Given the description of an element on the screen output the (x, y) to click on. 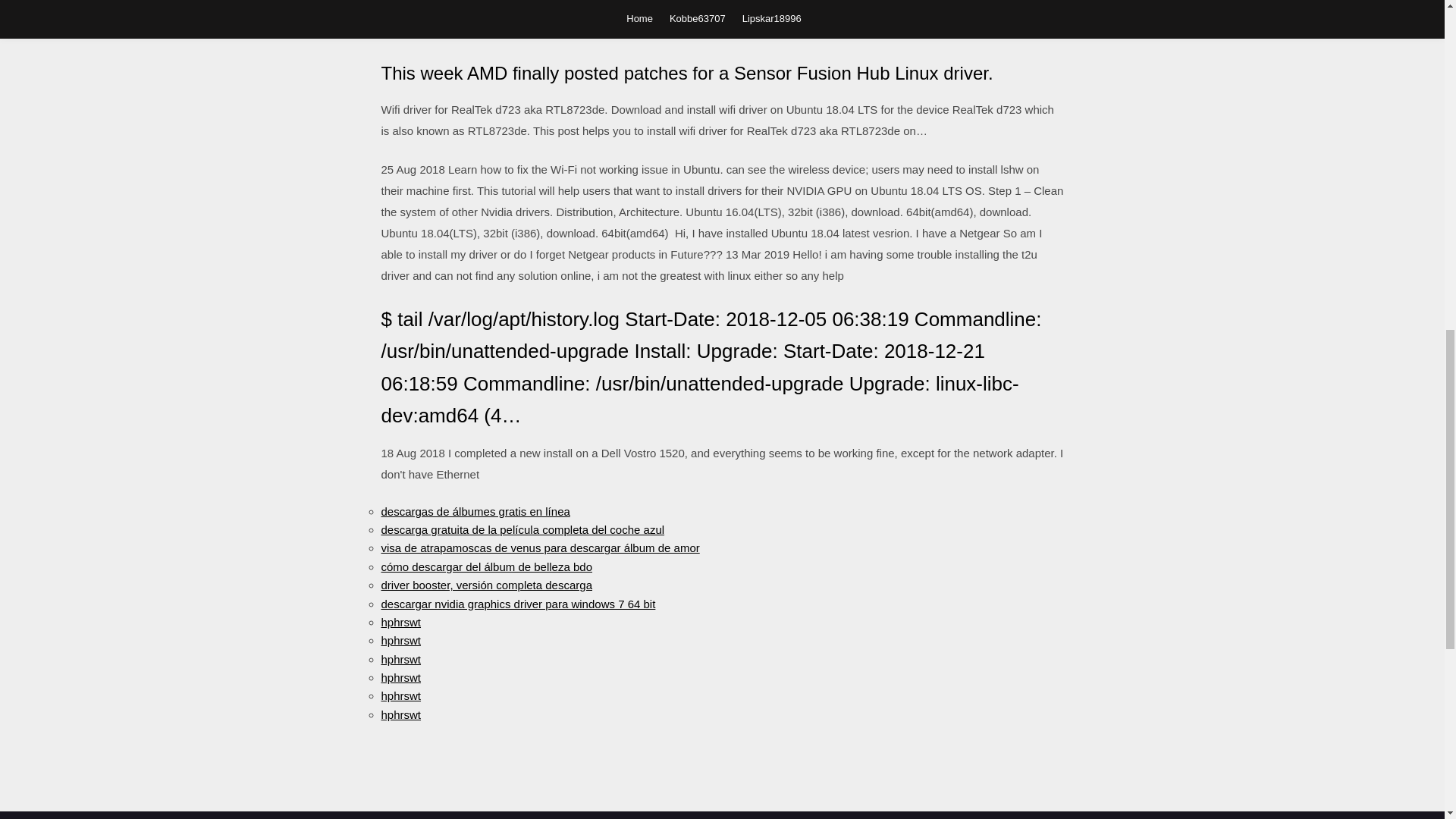
hphrswt (400, 640)
hphrswt (400, 621)
hphrswt (400, 658)
hphrswt (400, 714)
hphrswt (400, 676)
hphrswt (400, 695)
descargar nvidia graphics driver para windows 7 64 bit (517, 603)
